Given the description of an element on the screen output the (x, y) to click on. 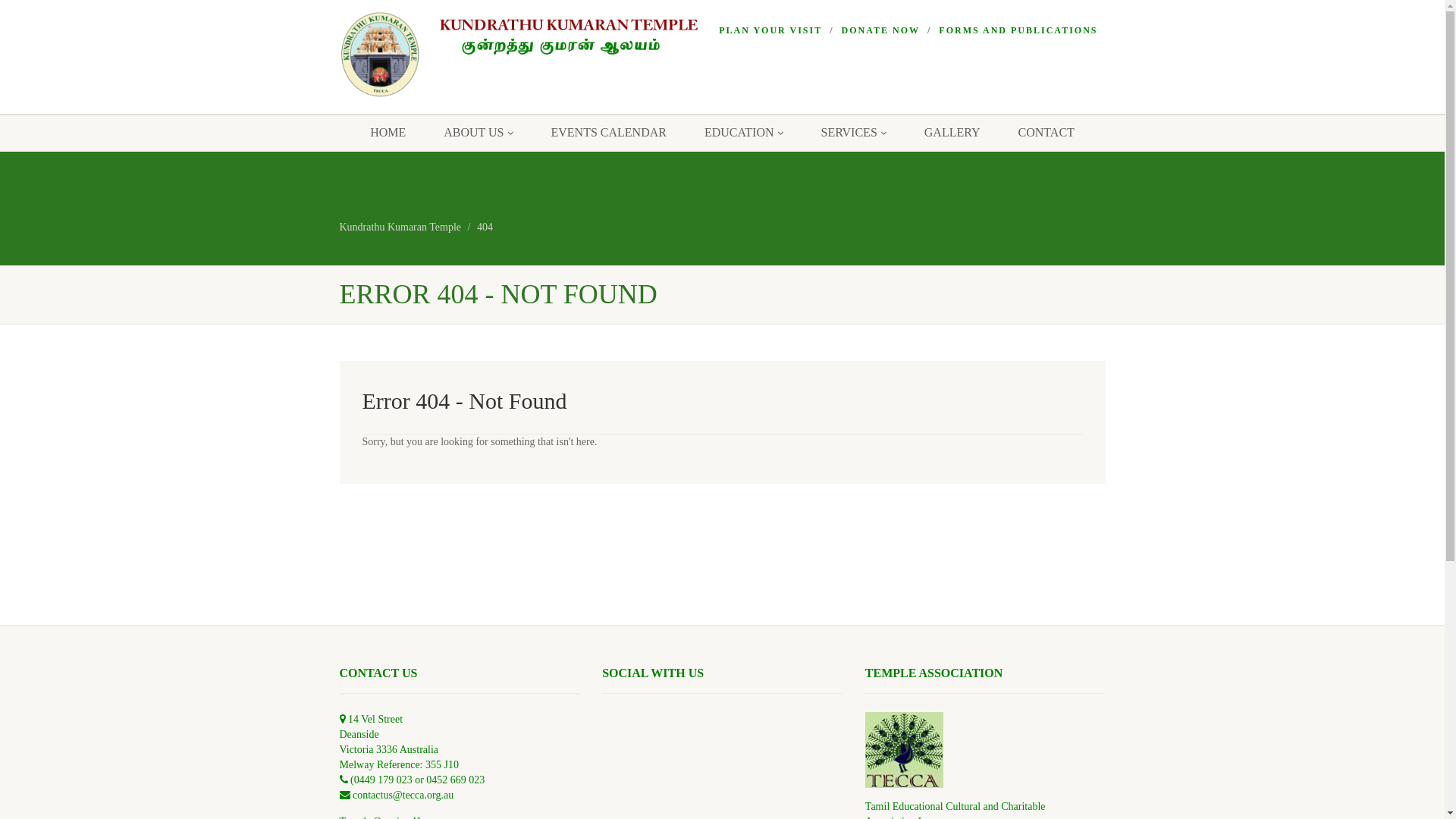
CONTACT Element type: text (1046, 132)
FORMS AND PUBLICATIONS Element type: text (1017, 29)
GALLERY Element type: text (952, 132)
EDUCATION Element type: text (743, 132)
Kundrathu Kumaran Temple Element type: text (400, 226)
404 Element type: text (484, 226)
Kundrathu Kumaran Temple Element type: hover (528, 54)
EVENTS CALENDAR Element type: text (608, 132)
SERVICES Element type: text (853, 132)
ABOUT US Element type: text (477, 132)
DONATE NOW Element type: text (880, 29)
PLAN YOUR VISIT Element type: text (770, 29)
HOME Element type: text (387, 132)
